Given the description of an element on the screen output the (x, y) to click on. 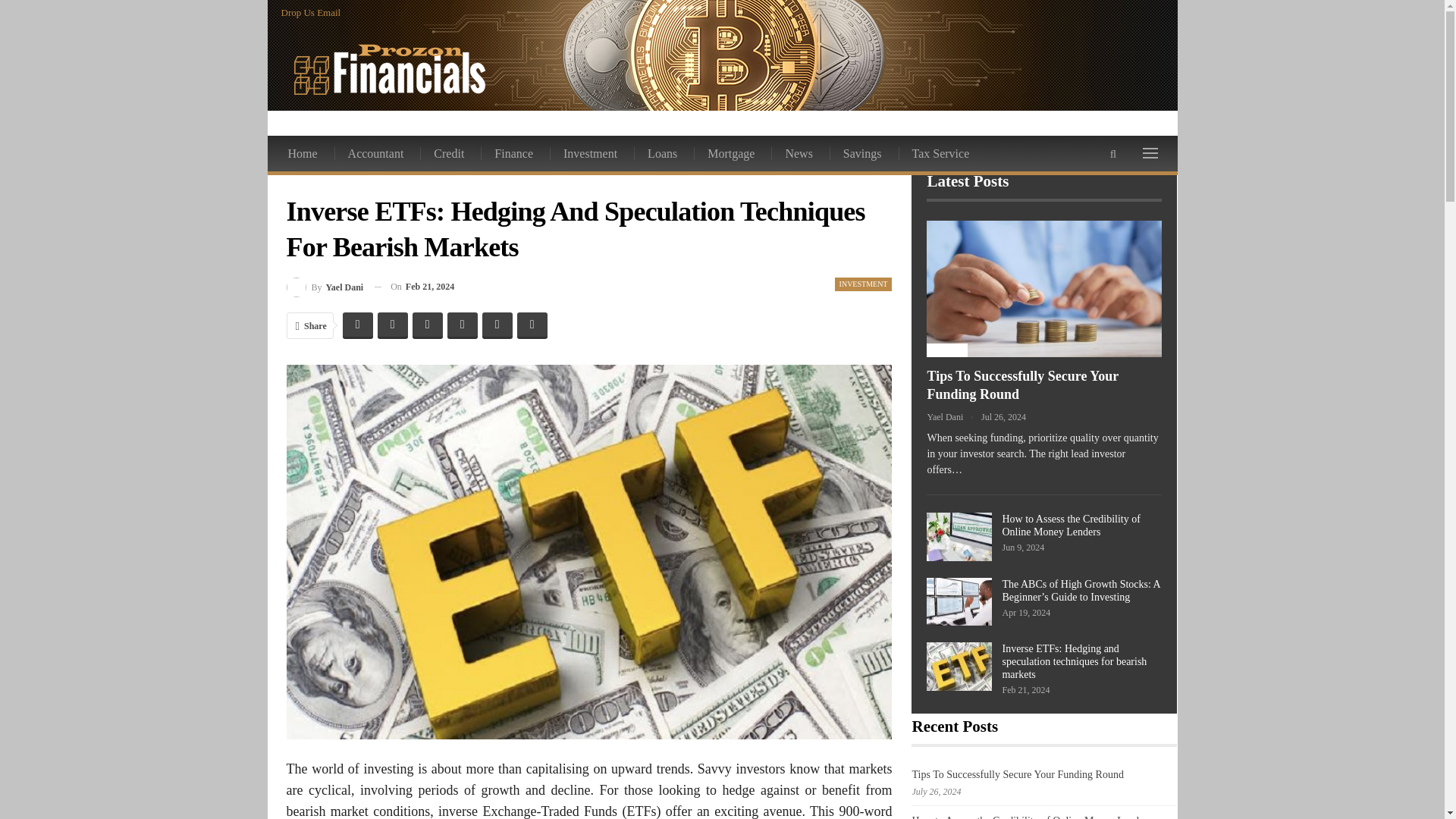
News (800, 153)
Investment (591, 153)
Tips To Successfully Secure Your Funding Round (1043, 288)
Finance (514, 153)
Drop Us Email (310, 12)
Tax Service (941, 153)
Browse Author Articles (325, 286)
Accountant (377, 153)
Mortgage (731, 153)
Savings (863, 153)
INVESTMENT (863, 284)
By Yael Dani (325, 286)
Loans (662, 153)
Home (303, 153)
Credit (450, 153)
